Given the description of an element on the screen output the (x, y) to click on. 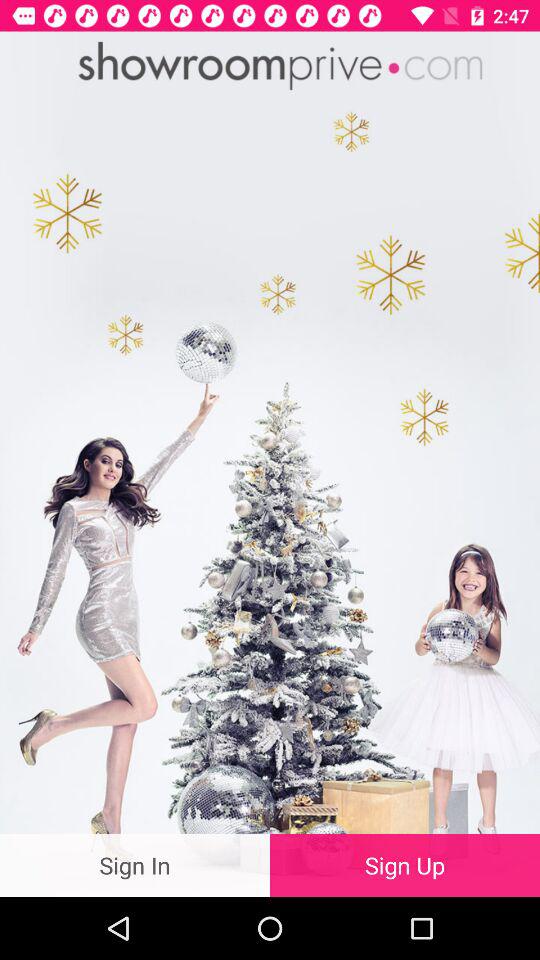
tap item to the right of sign in item (405, 864)
